Given the description of an element on the screen output the (x, y) to click on. 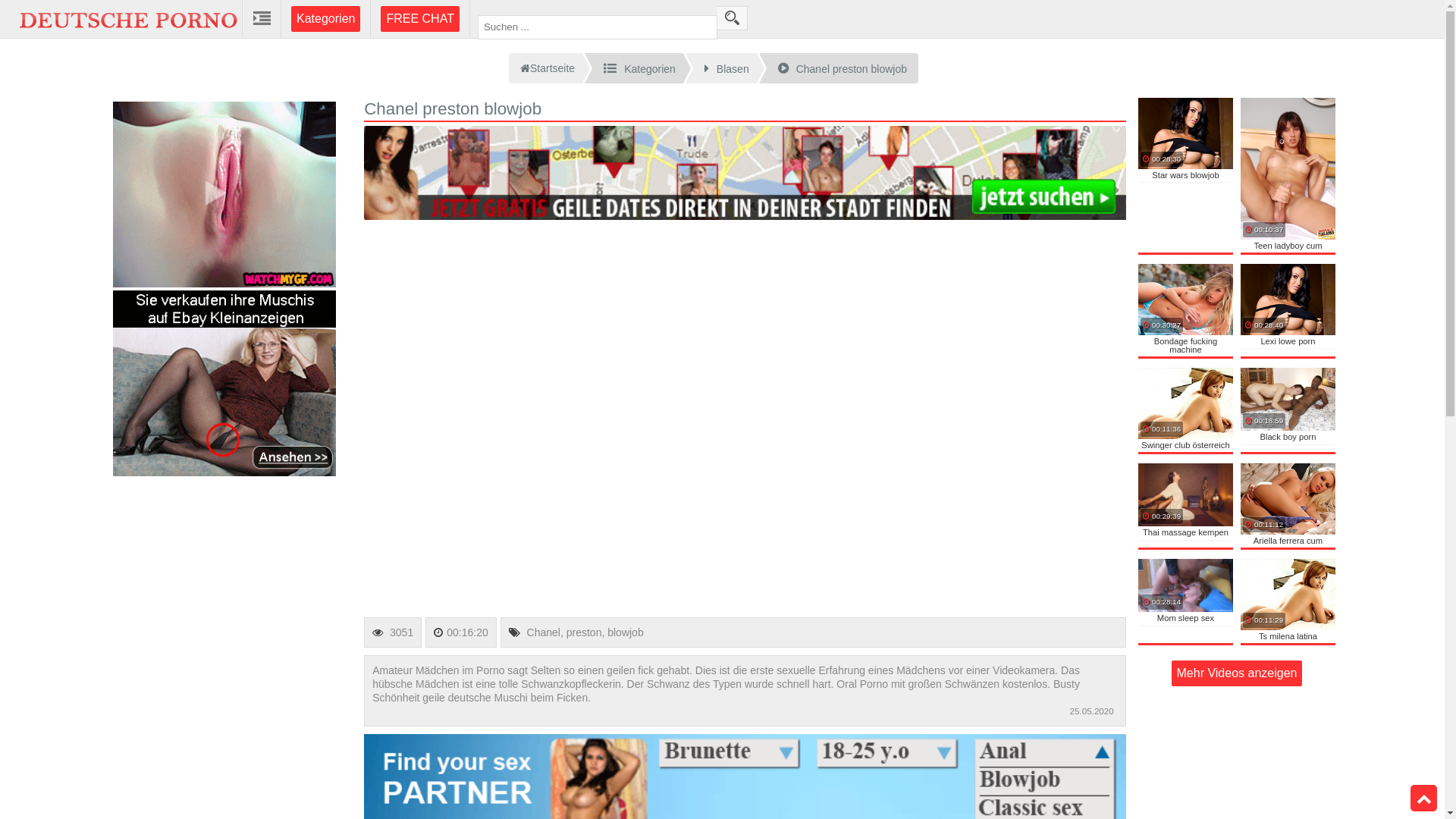
Kategorien Element type: text (325, 18)
00:28:30
Star wars blowjob Element type: text (1185, 174)
Chanel preston blowjob Element type: text (846, 68)
Kategorien Element type: text (641, 68)
00:28:14
Mom sleep sex Element type: text (1185, 600)
00:11:29
Ts milena latina Element type: text (1287, 600)
Mehr Videos anzeigen Element type: text (1236, 673)
00:10:37
Teen ladyboy cum Element type: text (1287, 174)
00:28:40
Lexi lowe porn Element type: text (1287, 309)
FREE CHAT Element type: text (419, 18)
00:18:59
Black boy porn Element type: text (1287, 409)
Startseite Element type: text (545, 68)
00:30:27
Bondage fucking machine Element type: text (1185, 309)
Blasen Element type: text (728, 68)
00:29:39
Thai massage kempen Element type: text (1185, 505)
00:11:12
Ariella ferrera cum Element type: text (1287, 505)
